Given the description of an element on the screen output the (x, y) to click on. 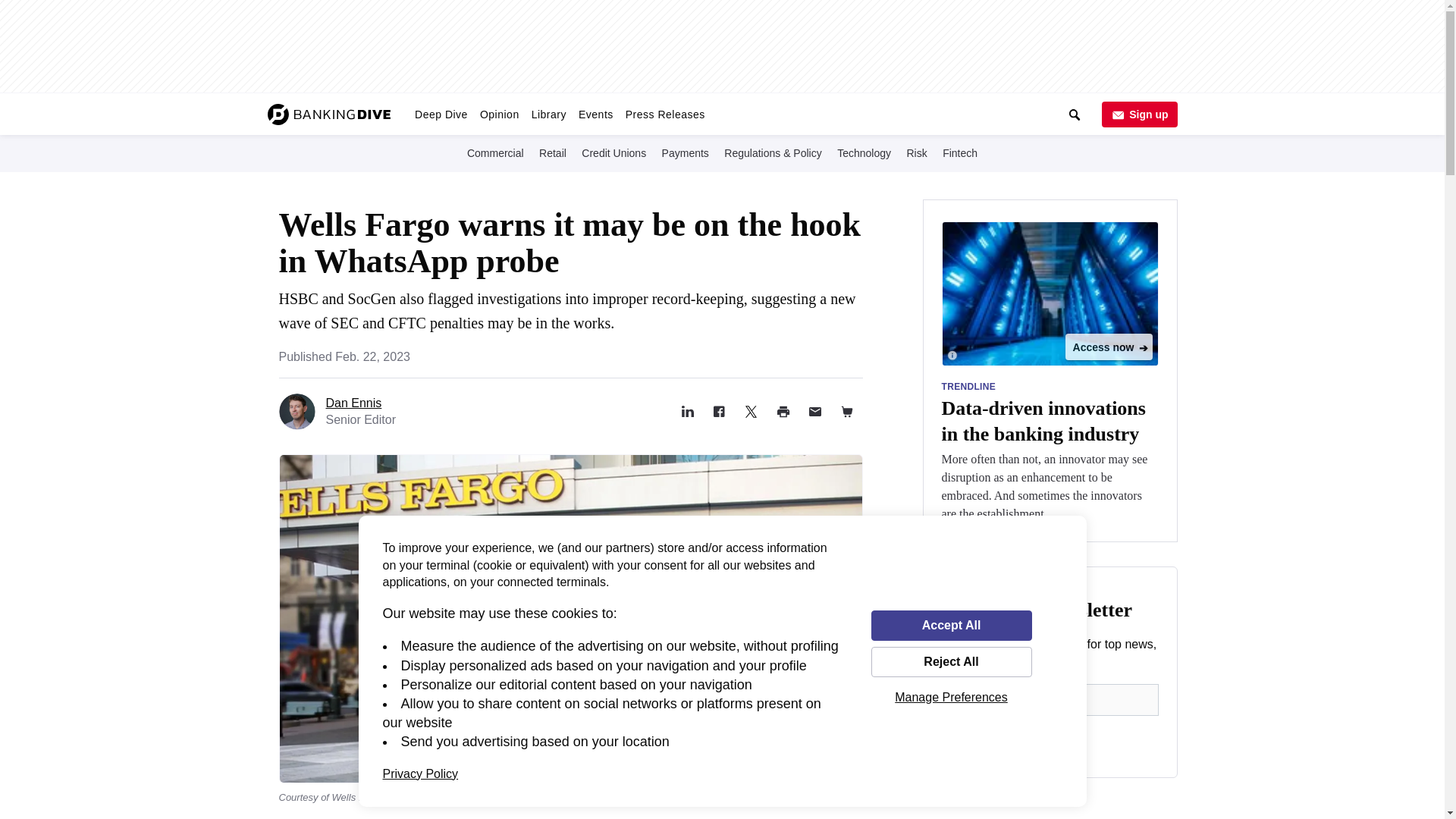
Opinion (499, 114)
Credit Unions (613, 152)
Library (548, 114)
Retail (552, 152)
Payments (685, 152)
Risk (916, 152)
Sign up (1138, 114)
Manage Preferences (950, 697)
Fintech (959, 152)
Events (596, 114)
Commercial (495, 152)
Deep Dive (441, 114)
Press Releases (665, 114)
Technology (863, 152)
Privacy Policy (419, 773)
